Given the description of an element on the screen output the (x, y) to click on. 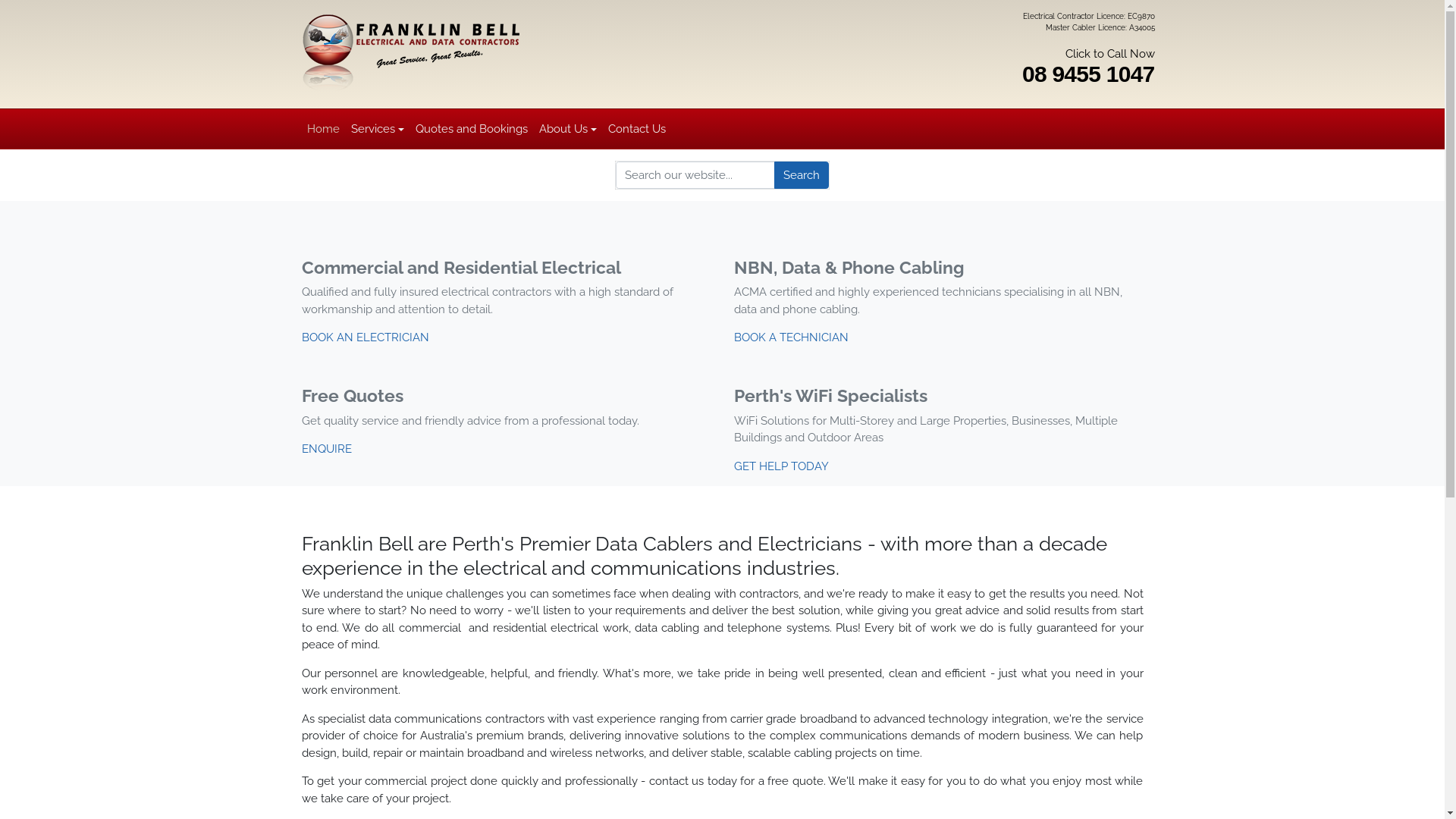
Quotes and Bookings Element type: text (471, 128)
About Us Element type: text (567, 128)
Search Element type: text (800, 174)
Home Element type: text (323, 128)
ENQUIRE Element type: text (326, 448)
08 9455 1047 Element type: text (1088, 73)
GET HELP TODAY Element type: text (781, 466)
Contact Us Element type: text (636, 128)
BOOK AN ELECTRICIAN Element type: text (365, 337)
Services Element type: text (377, 128)
BOOK A TECHNICIAN Element type: text (791, 337)
